Given the description of an element on the screen output the (x, y) to click on. 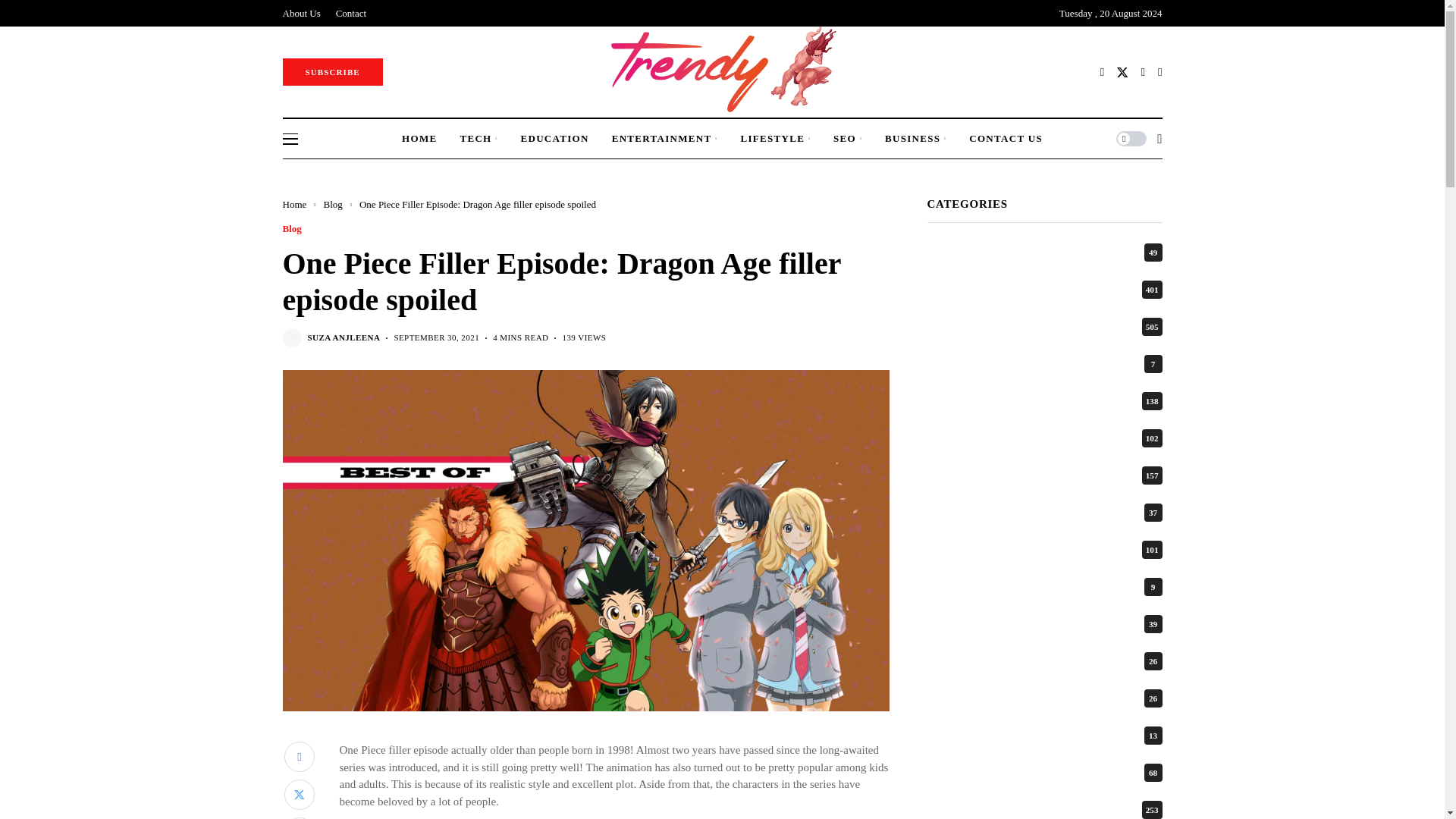
LIFESTYLE (774, 138)
About Us (301, 13)
TECH (478, 138)
CONTACT US (1005, 138)
BUSINESS (915, 138)
ENTERTAINMENT (664, 138)
SUBSCRIBE (331, 71)
EDUCATION (553, 138)
Posts by Suza Anjleena (343, 337)
